Given the description of an element on the screen output the (x, y) to click on. 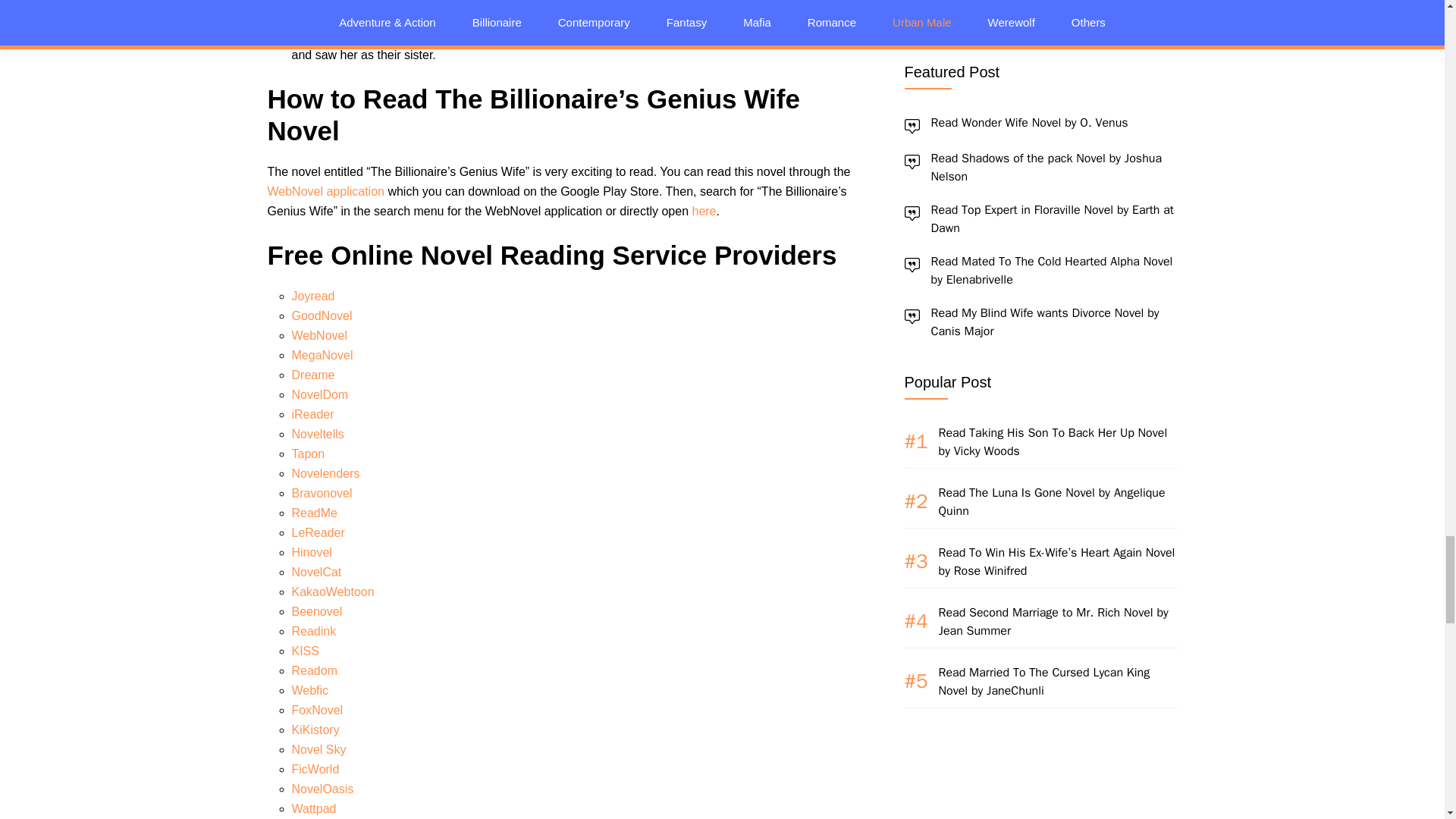
WebNovel application (325, 191)
